Given the description of an element on the screen output the (x, y) to click on. 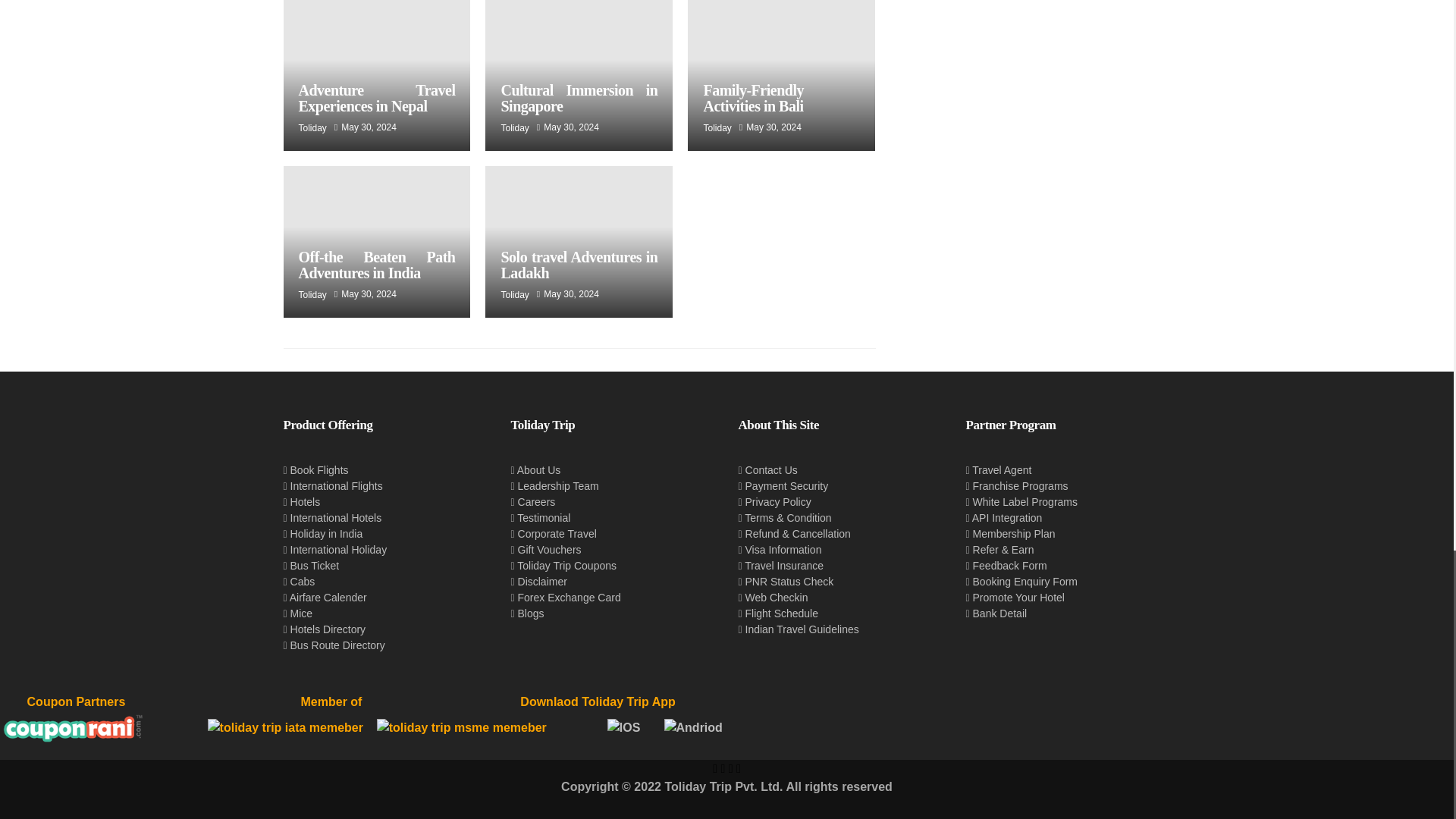
Cultural Immersion in Singapore (579, 97)
Toliday (716, 127)
Every people are enjoy with the job that they love (578, 75)
Toliday (312, 127)
Family-Friendly Activities in Bali (753, 97)
Every people are enjoy with the job that they love (376, 75)
Adventure Travel Experiences in Nepal (376, 97)
Toliday (514, 127)
